Given the description of an element on the screen output the (x, y) to click on. 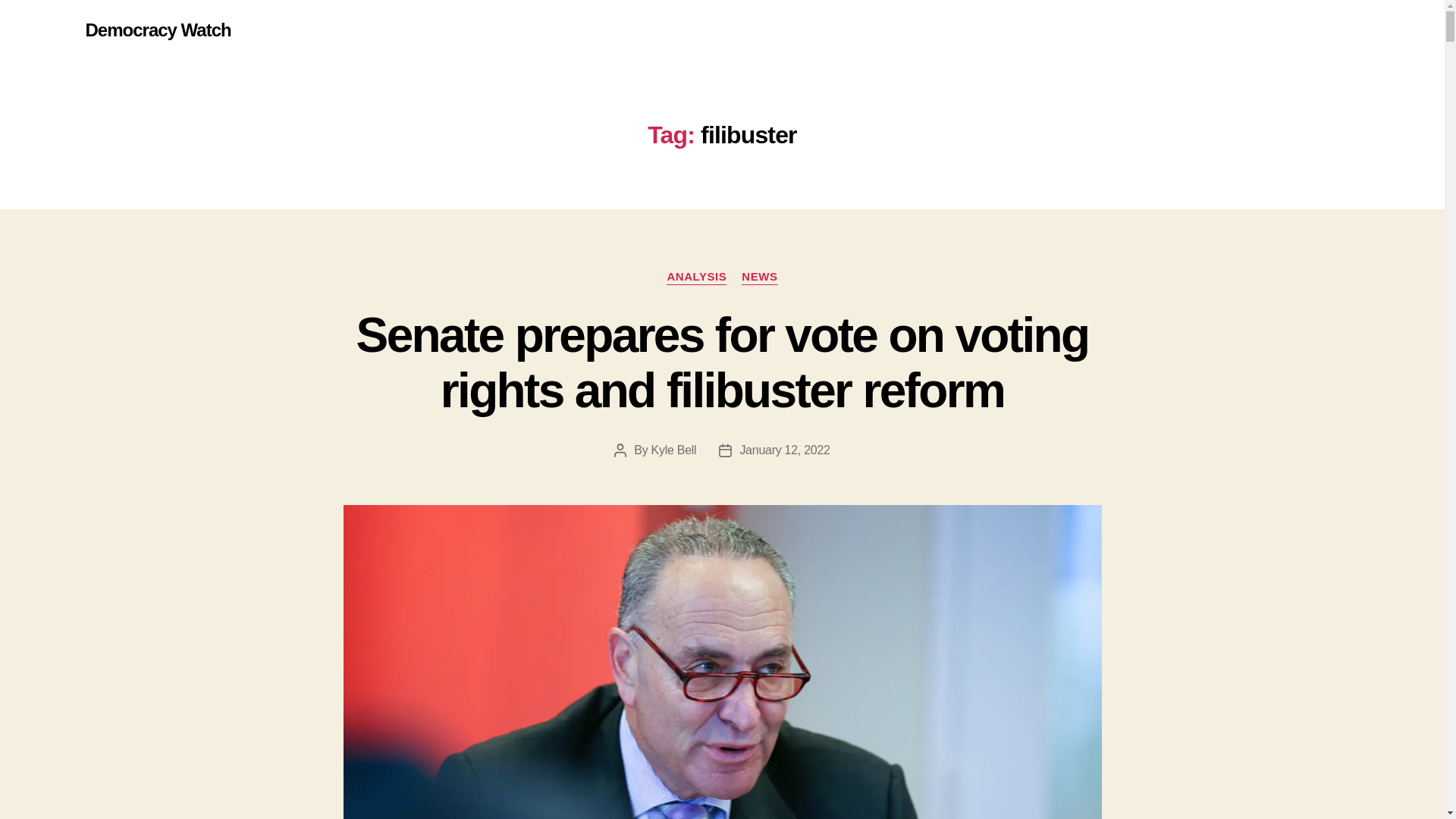
NEWS (759, 277)
Kyle Bell (673, 449)
Democracy Watch (157, 30)
January 12, 2022 (784, 449)
ANALYSIS (696, 277)
